Given the description of an element on the screen output the (x, y) to click on. 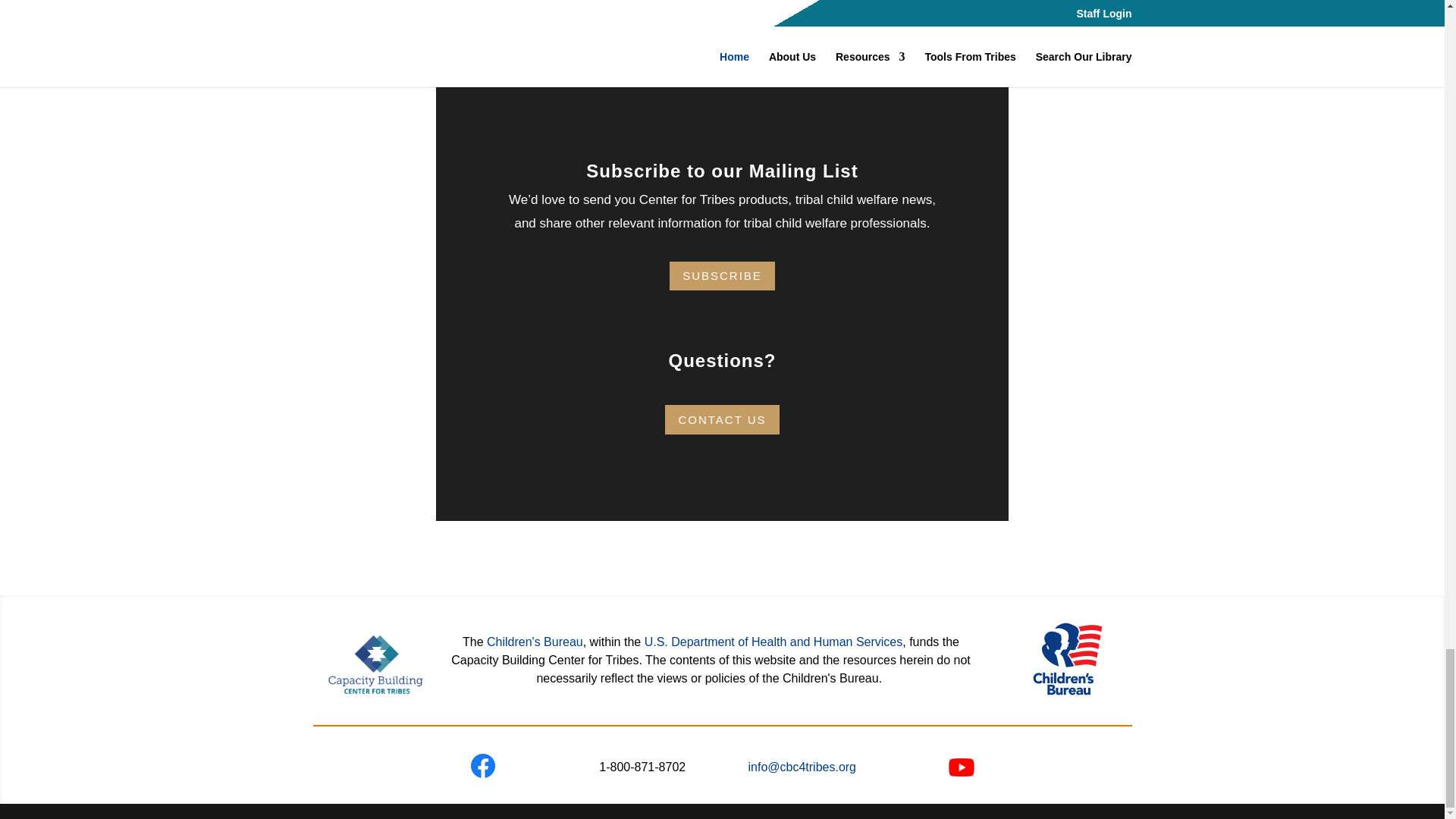
acf-logo-icon-cb (1067, 658)
CBCTLOGO (376, 664)
Facebook-logo-blue-circle-large-transparent-png (482, 765)
